Given the description of an element on the screen output the (x, y) to click on. 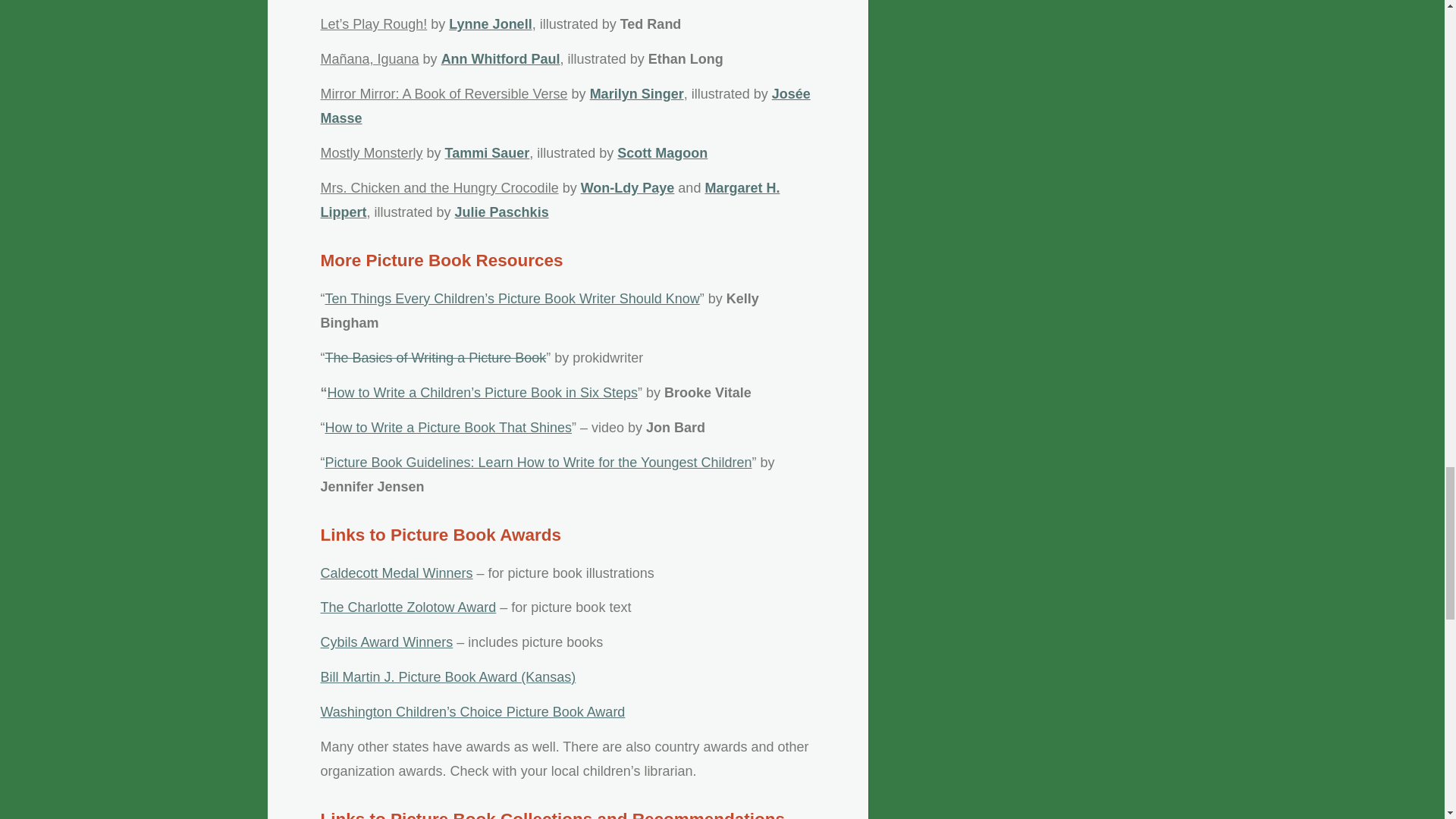
Tammi Sauer (487, 152)
Marilyn Singer (636, 93)
Ann Whitford Paul (500, 58)
Won-Ldy Paye (627, 187)
Julie Paschkis (501, 212)
Scott Magoon (662, 152)
Margaret H. Lippert (549, 200)
Lynne Jonell (489, 23)
The Basics of Writing a Picture Book (435, 357)
